Given the description of an element on the screen output the (x, y) to click on. 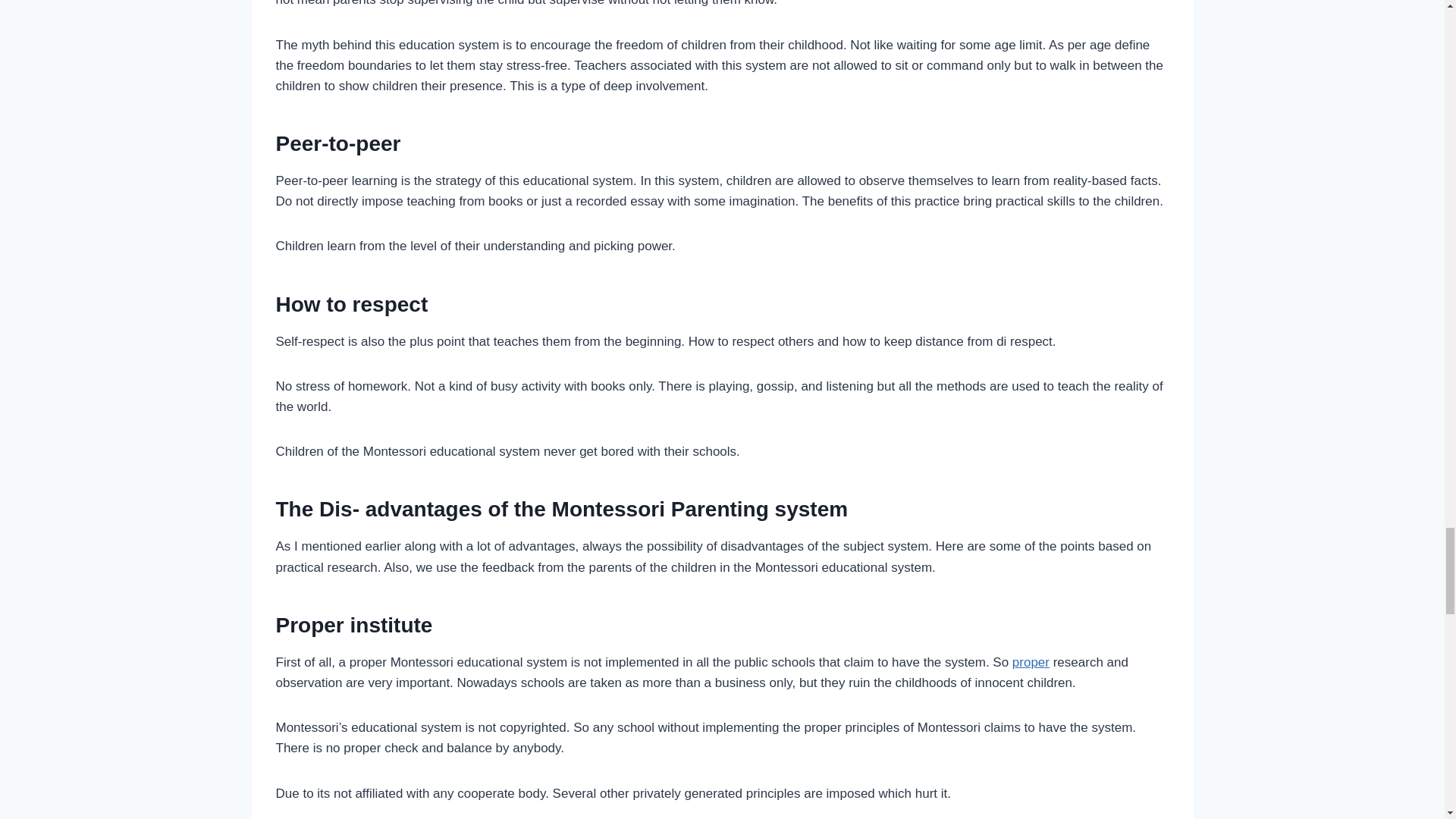
proper (1030, 662)
